Given the description of an element on the screen output the (x, y) to click on. 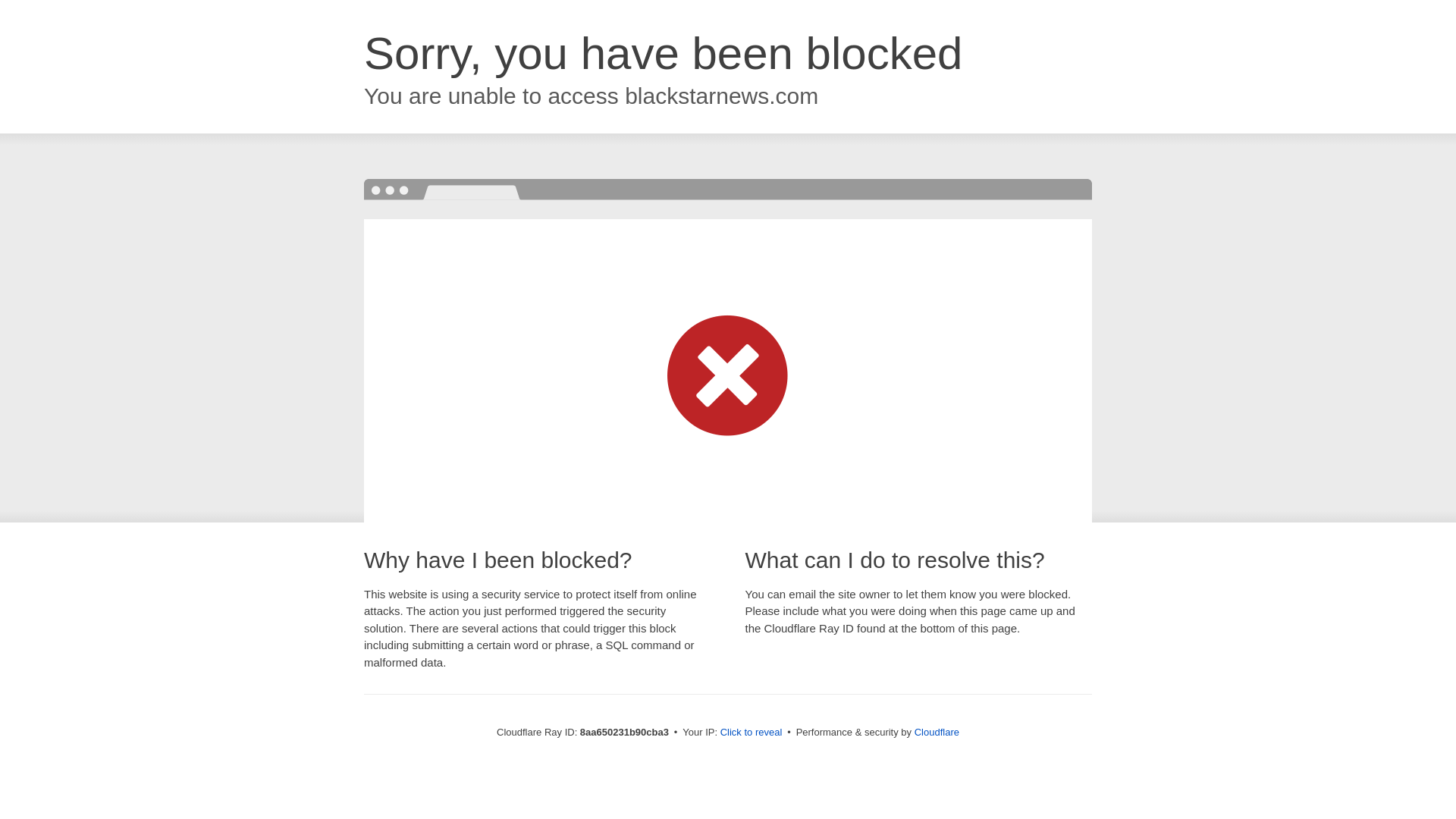
Cloudflare (936, 731)
Click to reveal (751, 732)
